Given the description of an element on the screen output the (x, y) to click on. 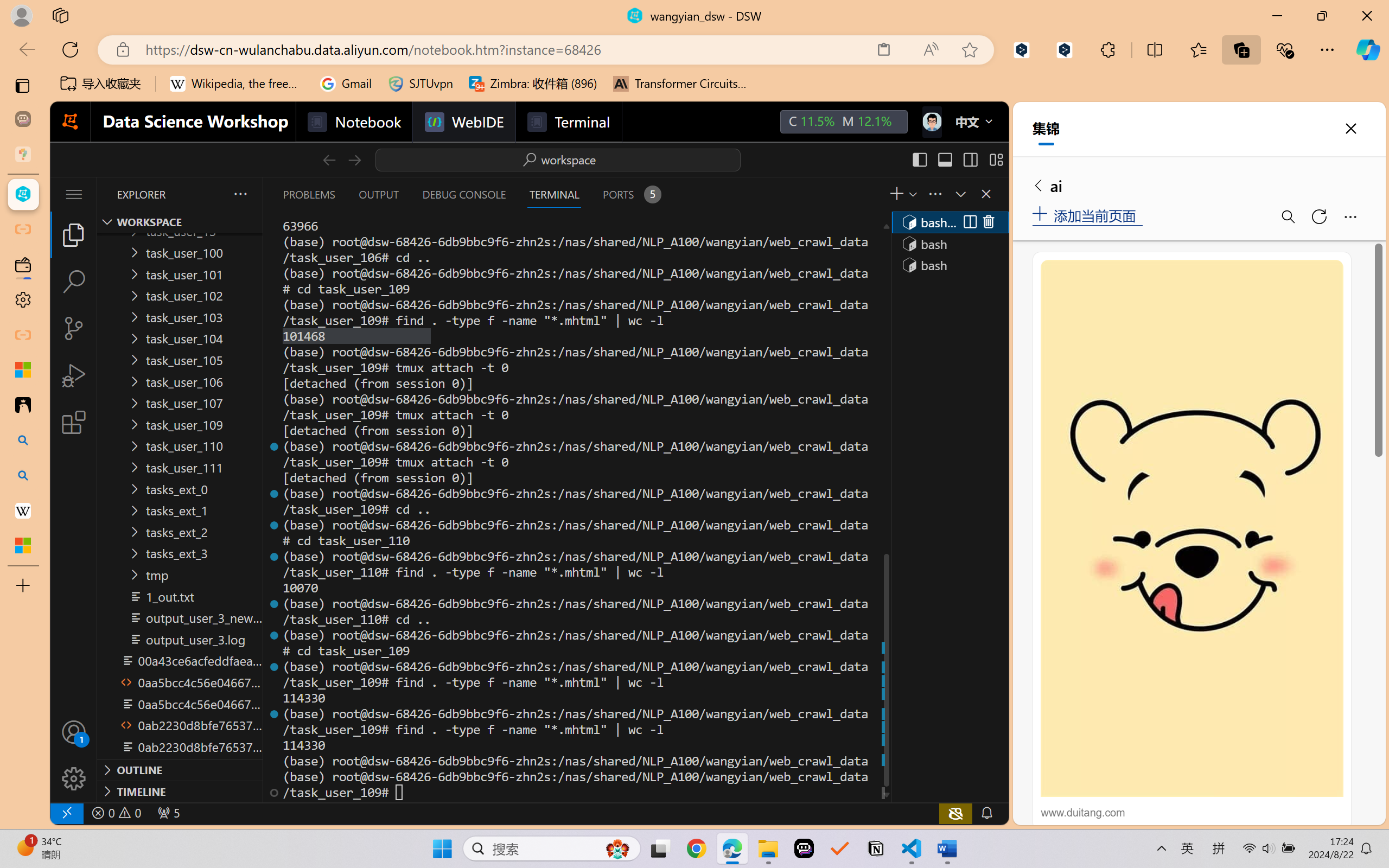
Microsoft security help and learning (22, 369)
WebIDE (463, 121)
Notifications (986, 812)
icon (930, 121)
remote (66, 812)
Toggle Primary Side Bar (Ctrl+B) (919, 159)
Terminal (568, 121)
Terminal 2 bash (949, 243)
Class: xterm-link-layer (574, 508)
Go Back (Alt+LeftArrow) (329, 159)
Source Control (Ctrl+Shift+G) (73, 328)
